Given the description of an element on the screen output the (x, y) to click on. 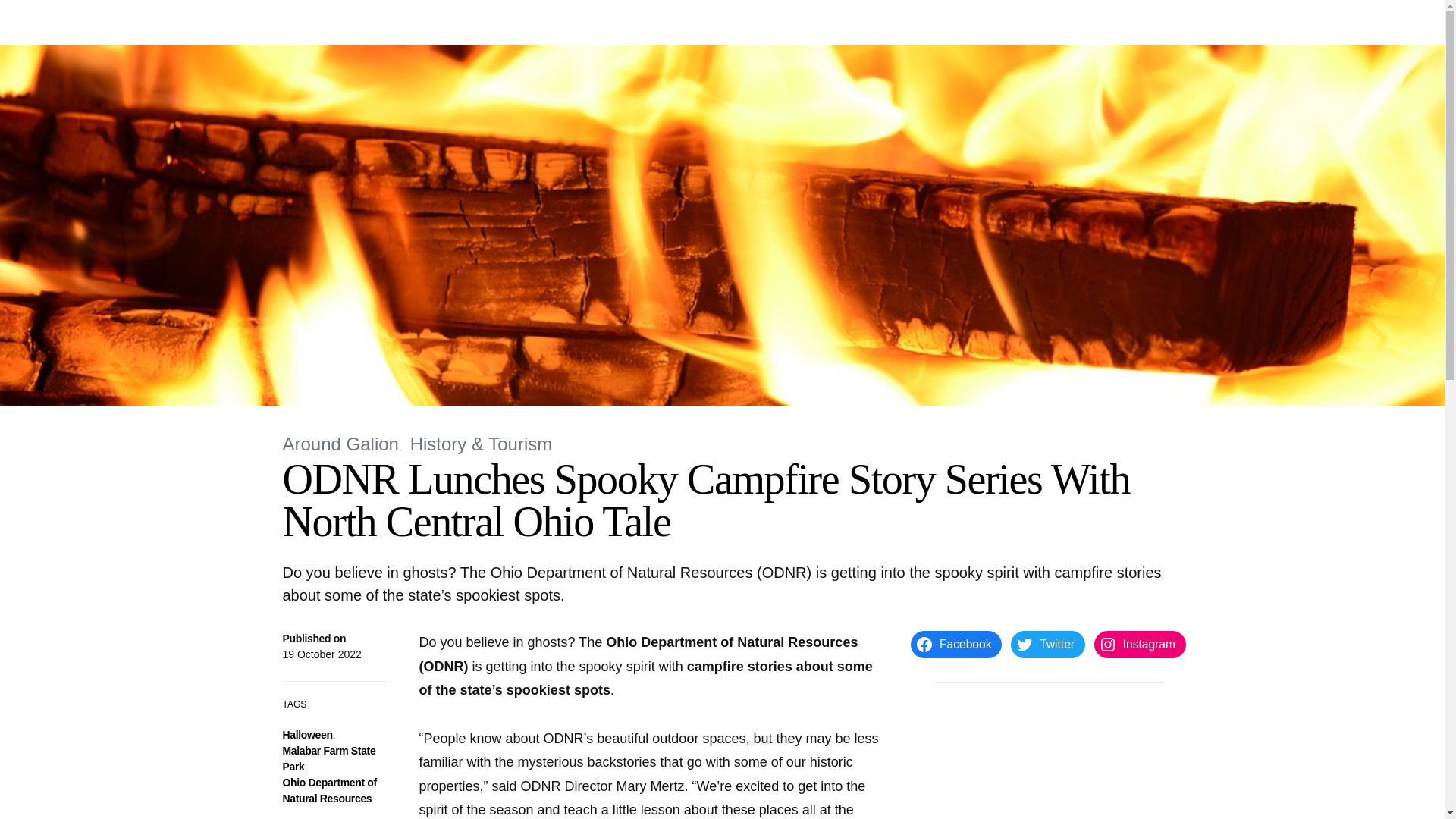
Around Galion (430, 22)
Facebook (956, 644)
Ohio Department of Natural Resources (328, 790)
Business (676, 22)
Twitter (1047, 644)
Malabar Farm State Park (328, 758)
Advertisement (1047, 763)
Around Galion (339, 444)
Halloween (306, 734)
Schools (619, 22)
1831Galion (320, 22)
Instagram (1140, 644)
